Given the description of an element on the screen output the (x, y) to click on. 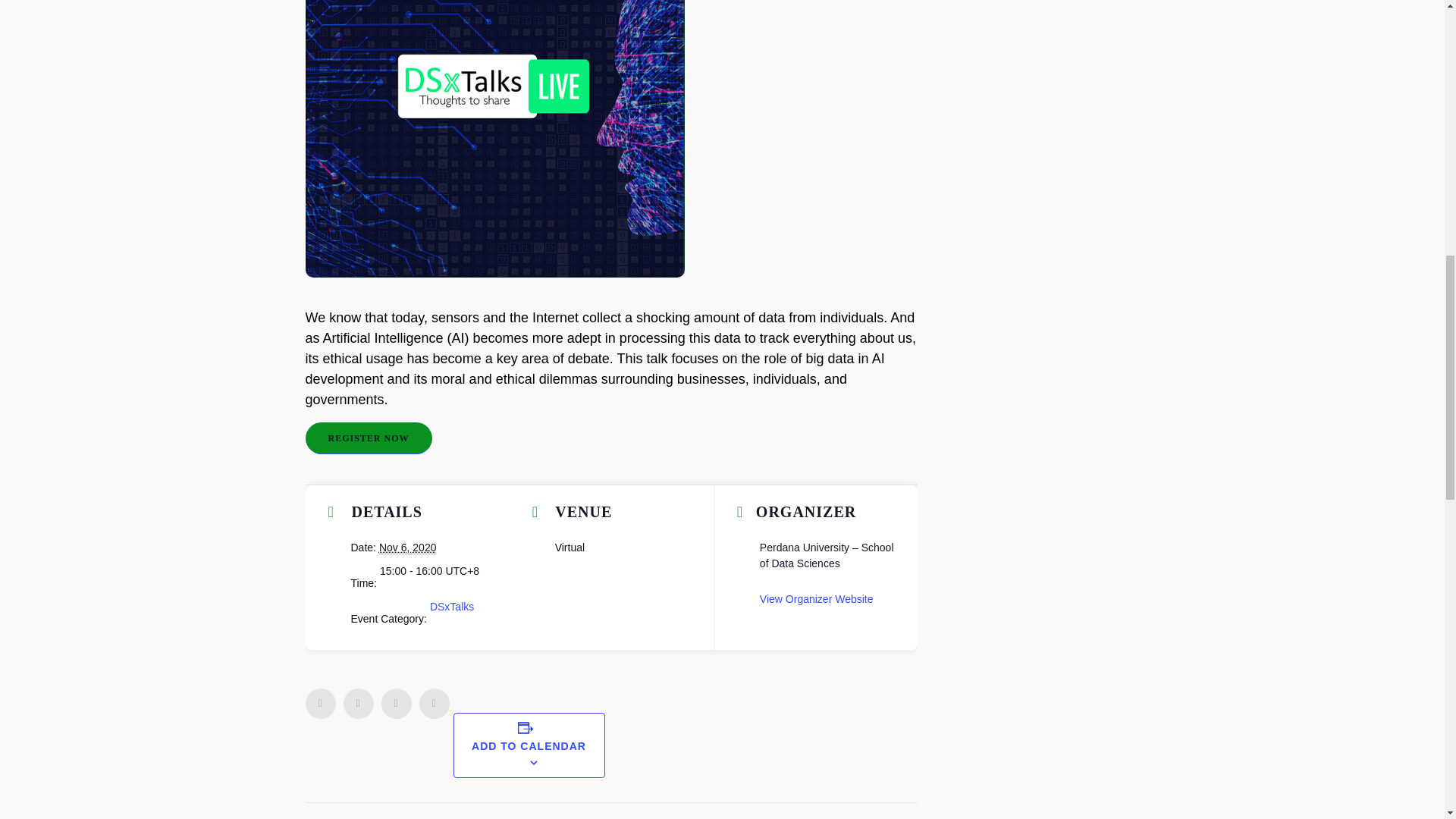
Share on Twitter (357, 703)
Share on Facebook (319, 703)
View Organizer Website (816, 598)
REGISTER NOW (367, 438)
2020-11-06 (407, 547)
2020-11-06 (429, 571)
Share on LinkedIn (395, 703)
DSxTalks (451, 606)
Email this (433, 703)
